Given the description of an element on the screen output the (x, y) to click on. 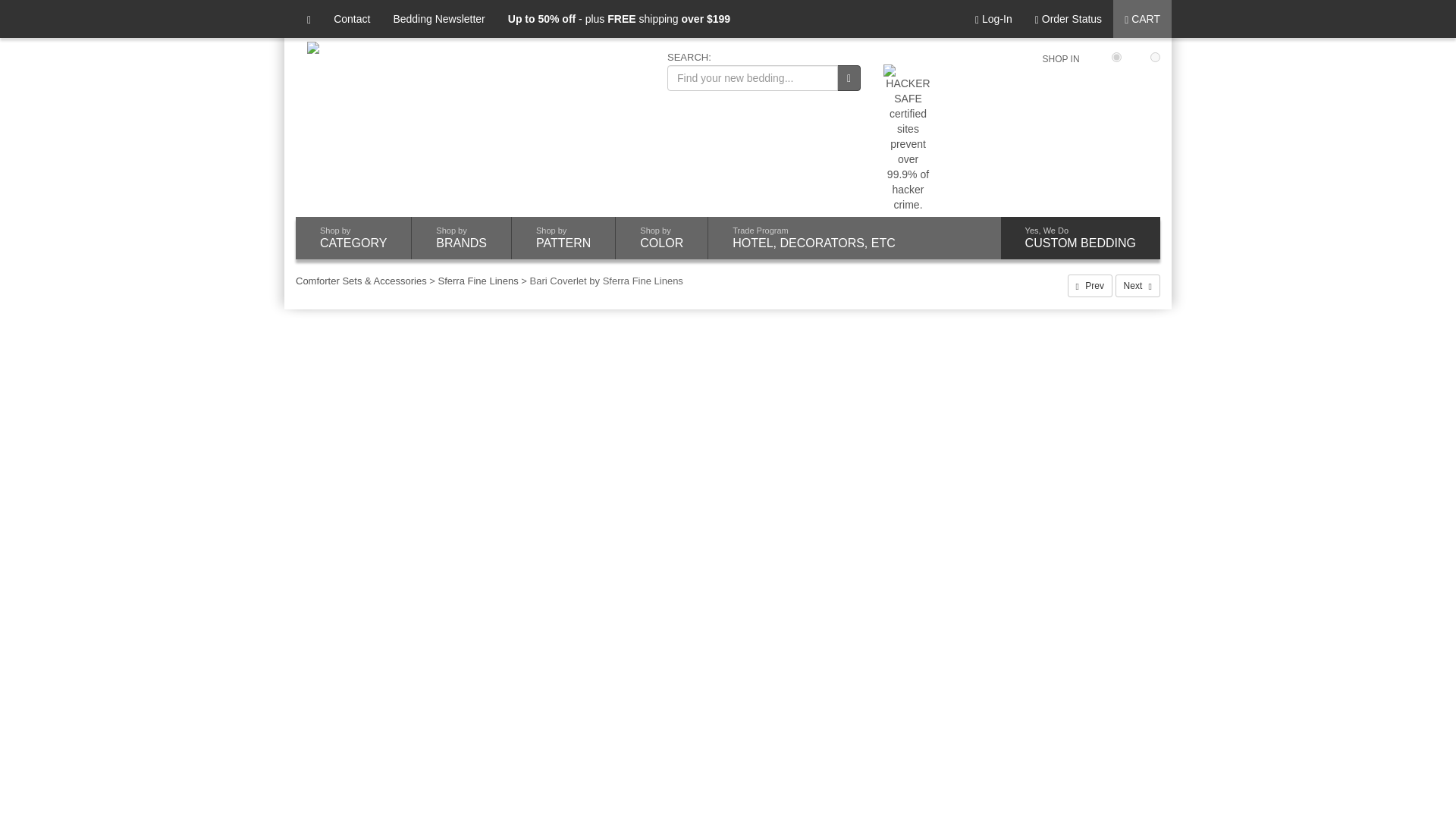
2 (1155, 57)
1 (461, 238)
Log-In (1116, 57)
Order Status (993, 18)
Bedding Newsletter (1068, 18)
CART (352, 238)
Contact (438, 18)
